Given the description of an element on the screen output the (x, y) to click on. 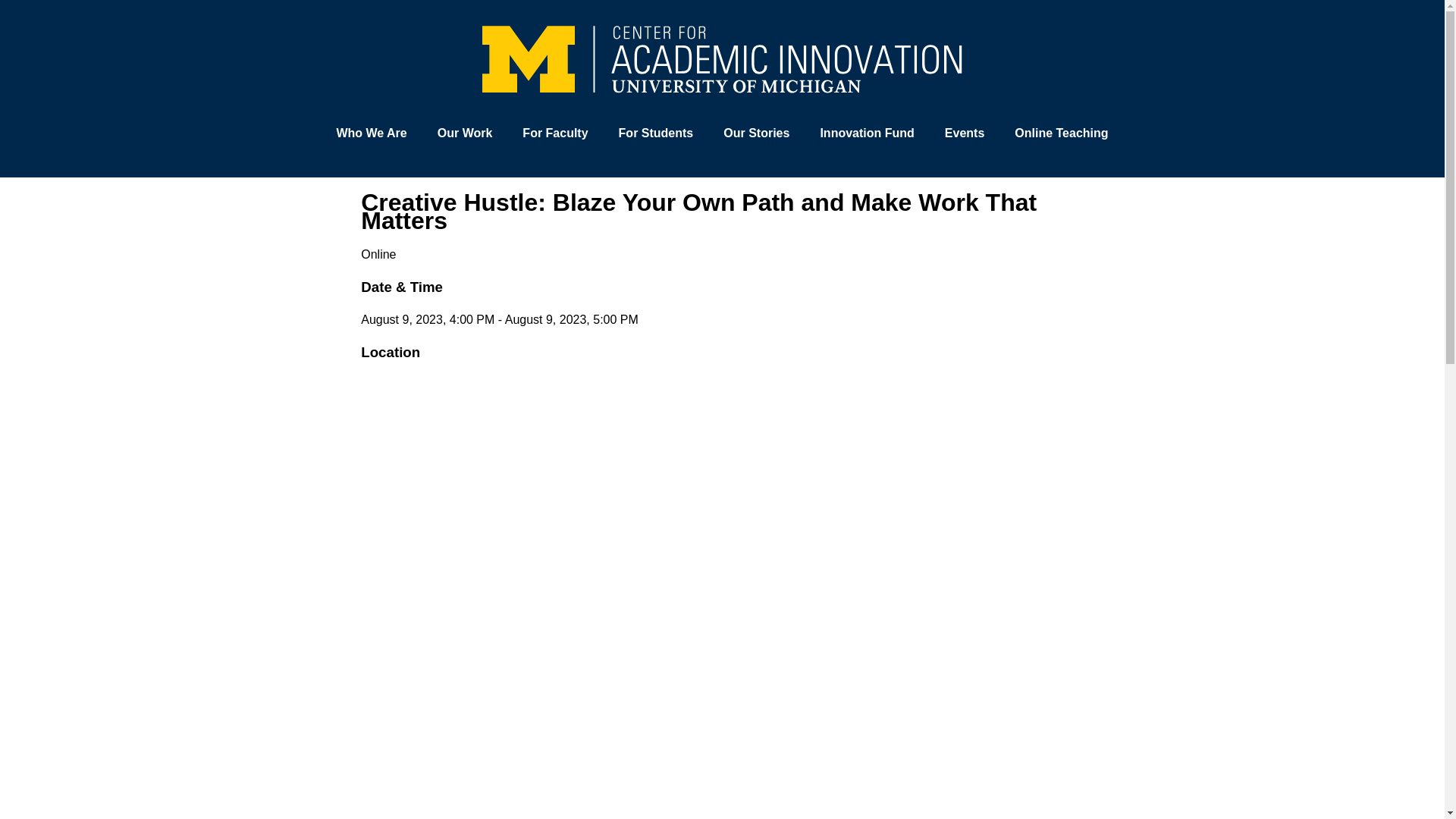
For Students (656, 132)
Online Teaching (1060, 132)
For Faculty (554, 132)
Events (964, 132)
Our Work (465, 132)
Innovation Fund (866, 132)
Who We Are (371, 132)
Our Stories (756, 132)
